Given the description of an element on the screen output the (x, y) to click on. 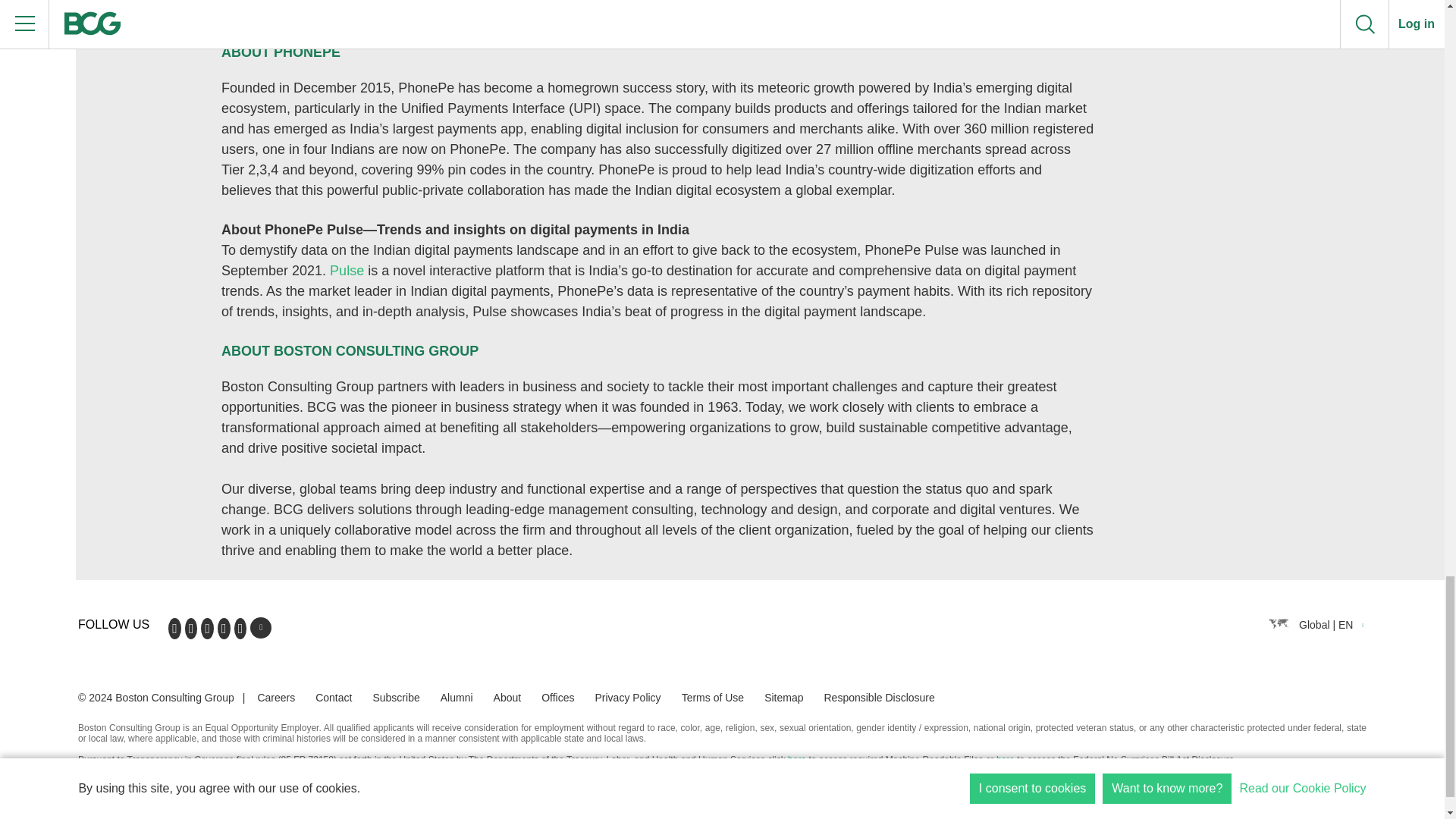
here (1004, 759)
Privacy Policy (627, 697)
Terms of Use (712, 697)
Subscribe (395, 697)
Offices (557, 697)
About (507, 697)
Responsible Disclosure (879, 697)
Pulse (347, 270)
Sitemap (783, 697)
here (796, 759)
Careers (276, 697)
Contact (333, 697)
Alumni (457, 697)
